Given the description of an element on the screen output the (x, y) to click on. 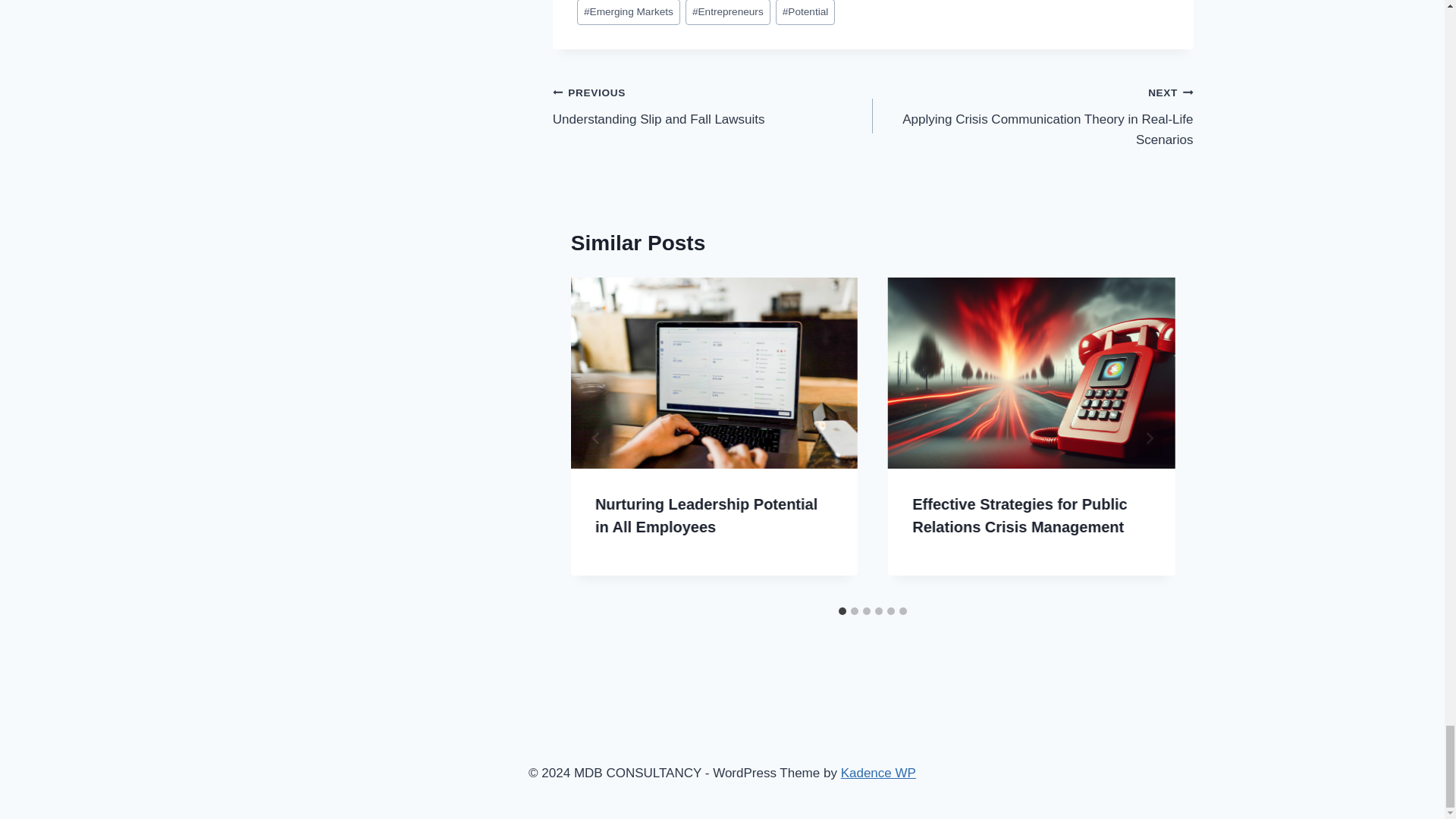
Nurturing Leadership Potential in All Employees (705, 515)
Emerging Markets (627, 12)
Effective Strategies for Public Relations Crisis Management (1019, 515)
Entrepreneurs (727, 12)
Potential (805, 12)
